Given the description of an element on the screen output the (x, y) to click on. 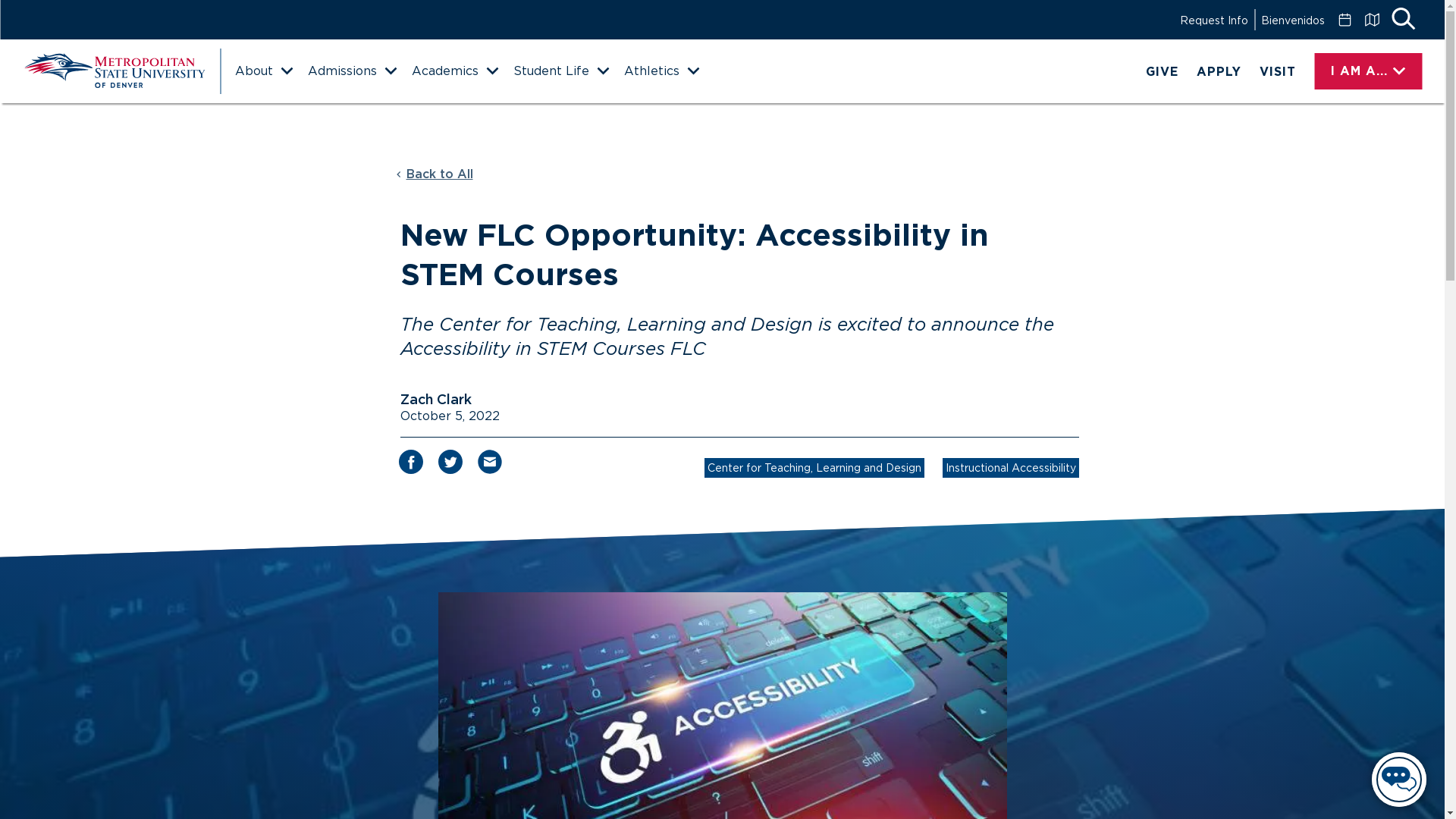
MSU Denver (114, 70)
Calendar (1344, 19)
Map (1371, 19)
Request Info (1213, 20)
Search (1403, 19)
About (263, 71)
Bienvenidos (1292, 20)
